Given the description of an element on the screen output the (x, y) to click on. 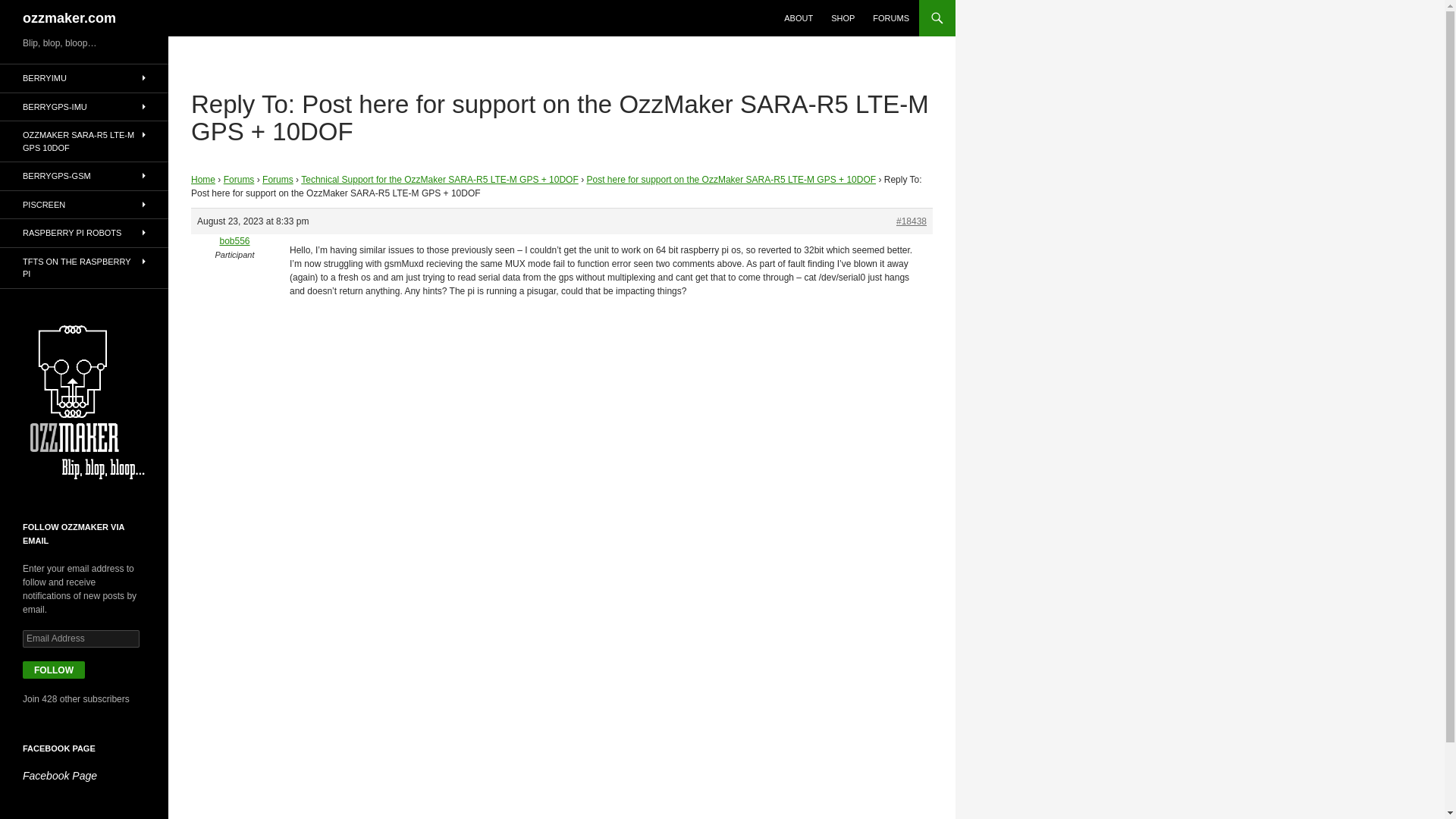
ABOUT (798, 18)
View bob556's profile (234, 241)
Home (202, 179)
OZZMAKER SARA-R5 LTE-M GPS 10DOF (84, 141)
Forums (278, 179)
FORUMS (890, 18)
ozzmaker.com (69, 18)
SHOP (842, 18)
BERRYIMU (84, 78)
bob556 (234, 241)
